Given the description of an element on the screen output the (x, y) to click on. 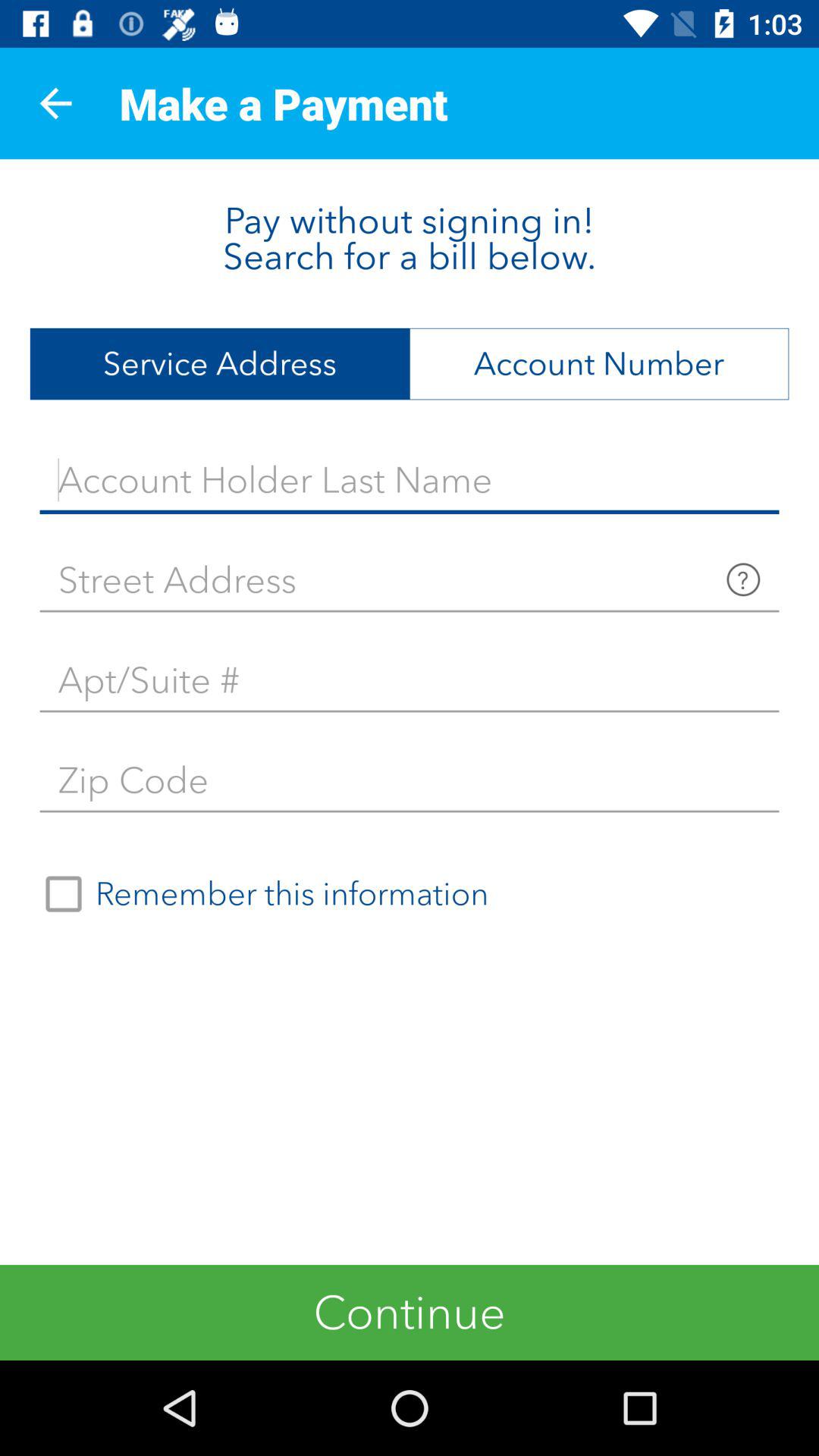
tap icon next to the account number icon (219, 363)
